Given the description of an element on the screen output the (x, y) to click on. 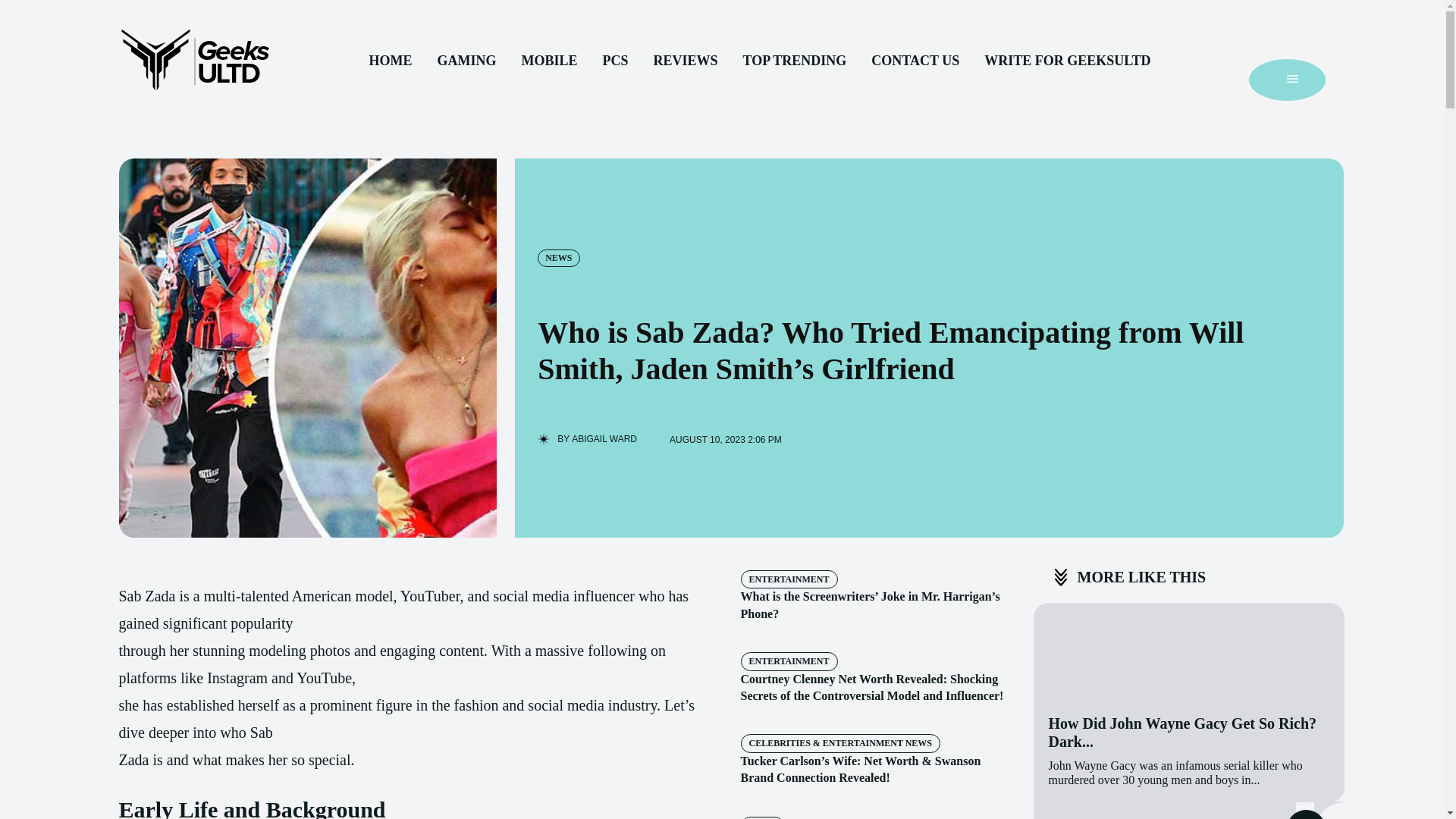
GAMING (466, 60)
REVIEWS (685, 60)
PCS (615, 60)
HOME (390, 60)
MOBILE (549, 60)
